Given the description of an element on the screen output the (x, y) to click on. 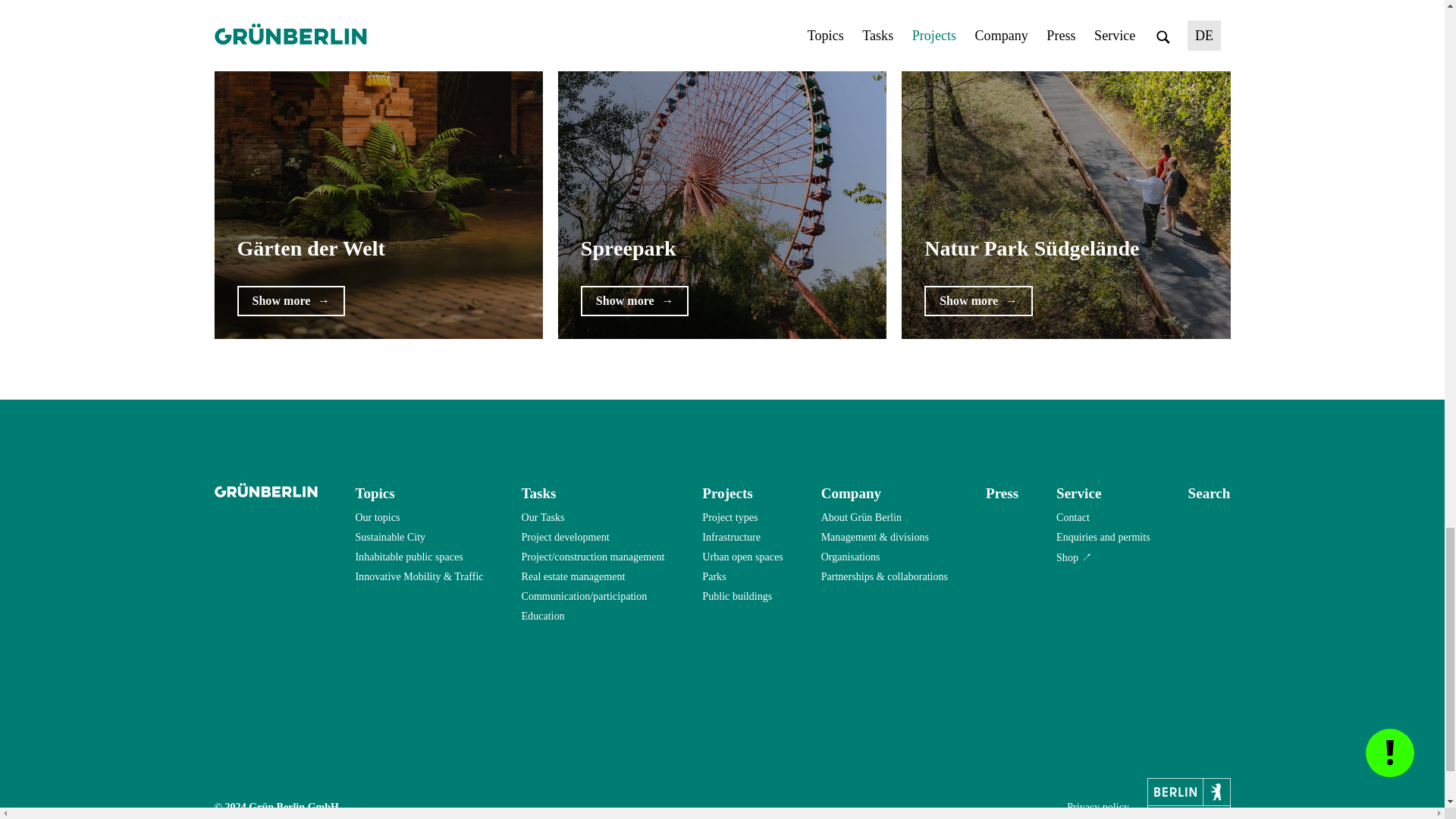
Public buildings (736, 596)
Show more (290, 300)
Topics (374, 492)
Inhabitable public spaces (409, 557)
Projects (726, 492)
Sustainable City (390, 537)
Projects (726, 492)
Project development (565, 537)
Show more (634, 300)
Show more (978, 300)
